Given the description of an element on the screen output the (x, y) to click on. 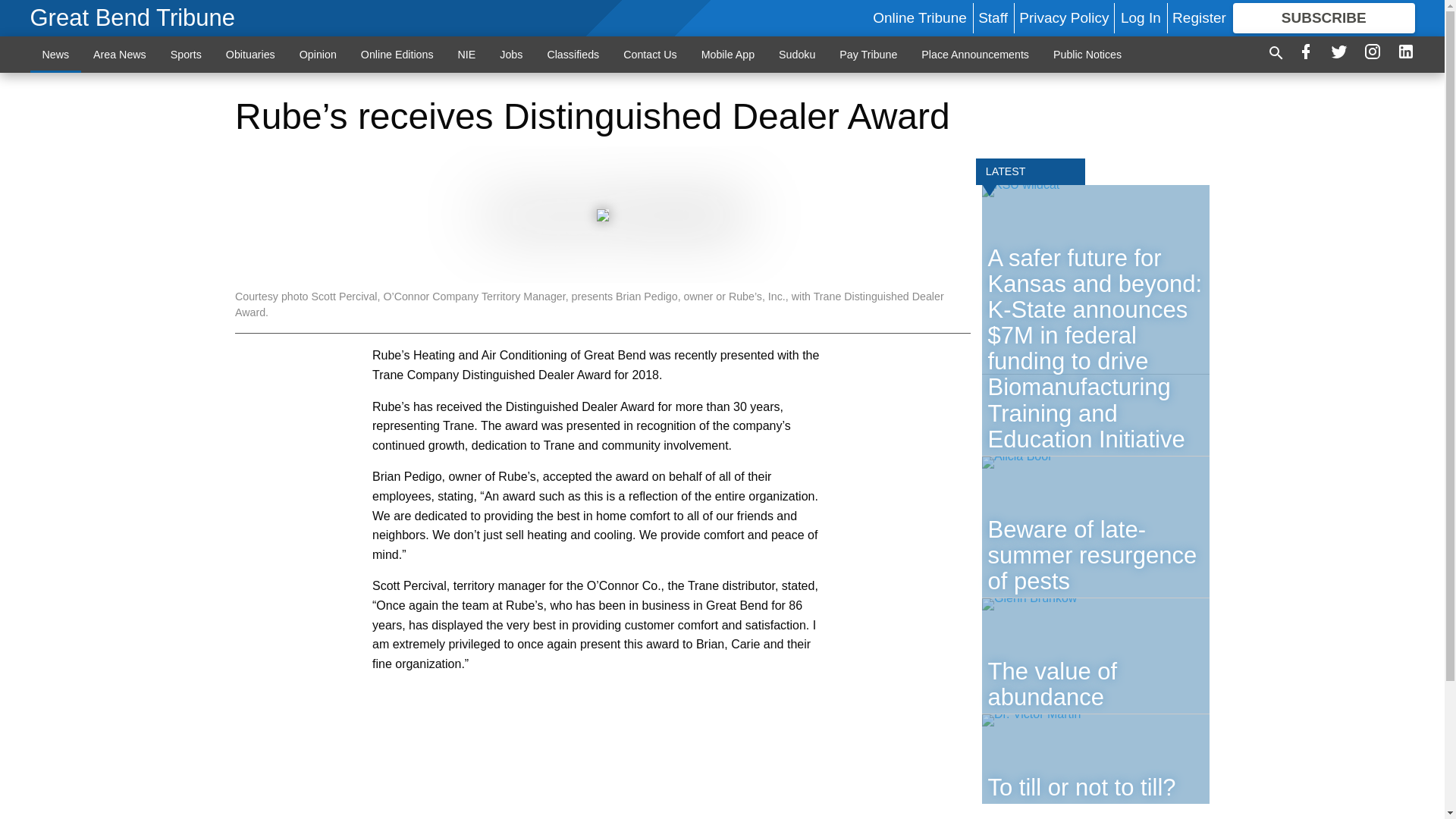
SUBSCRIBE (1324, 18)
Opinion (317, 54)
Staff (992, 17)
Register (1198, 17)
News (55, 54)
Pay Tribune (867, 54)
Great Bend Tribune (132, 17)
Jobs (510, 54)
Area News (119, 54)
Public Notices (1087, 54)
